Given the description of an element on the screen output the (x, y) to click on. 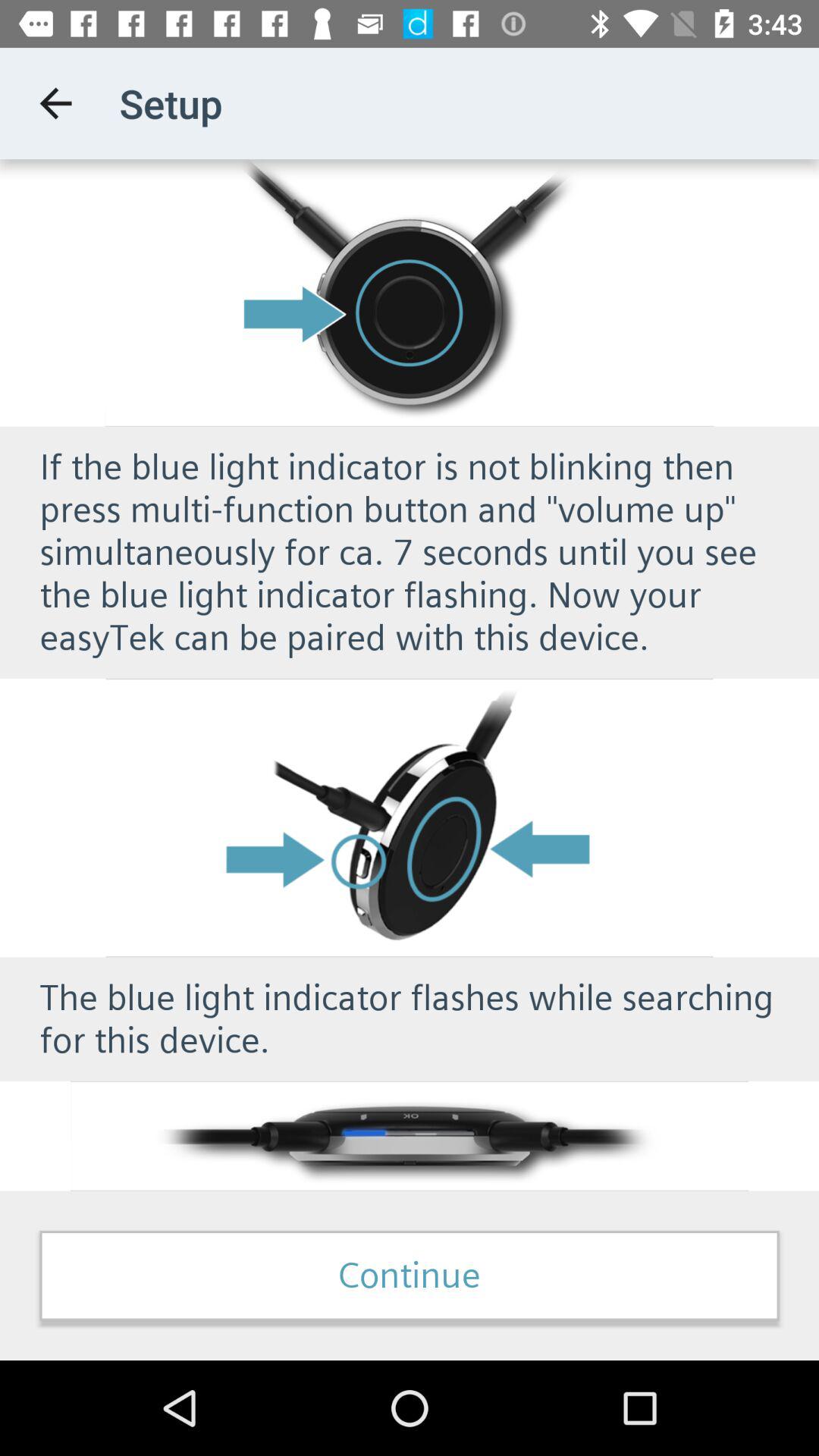
press the icon next to setup app (55, 103)
